Given the description of an element on the screen output the (x, y) to click on. 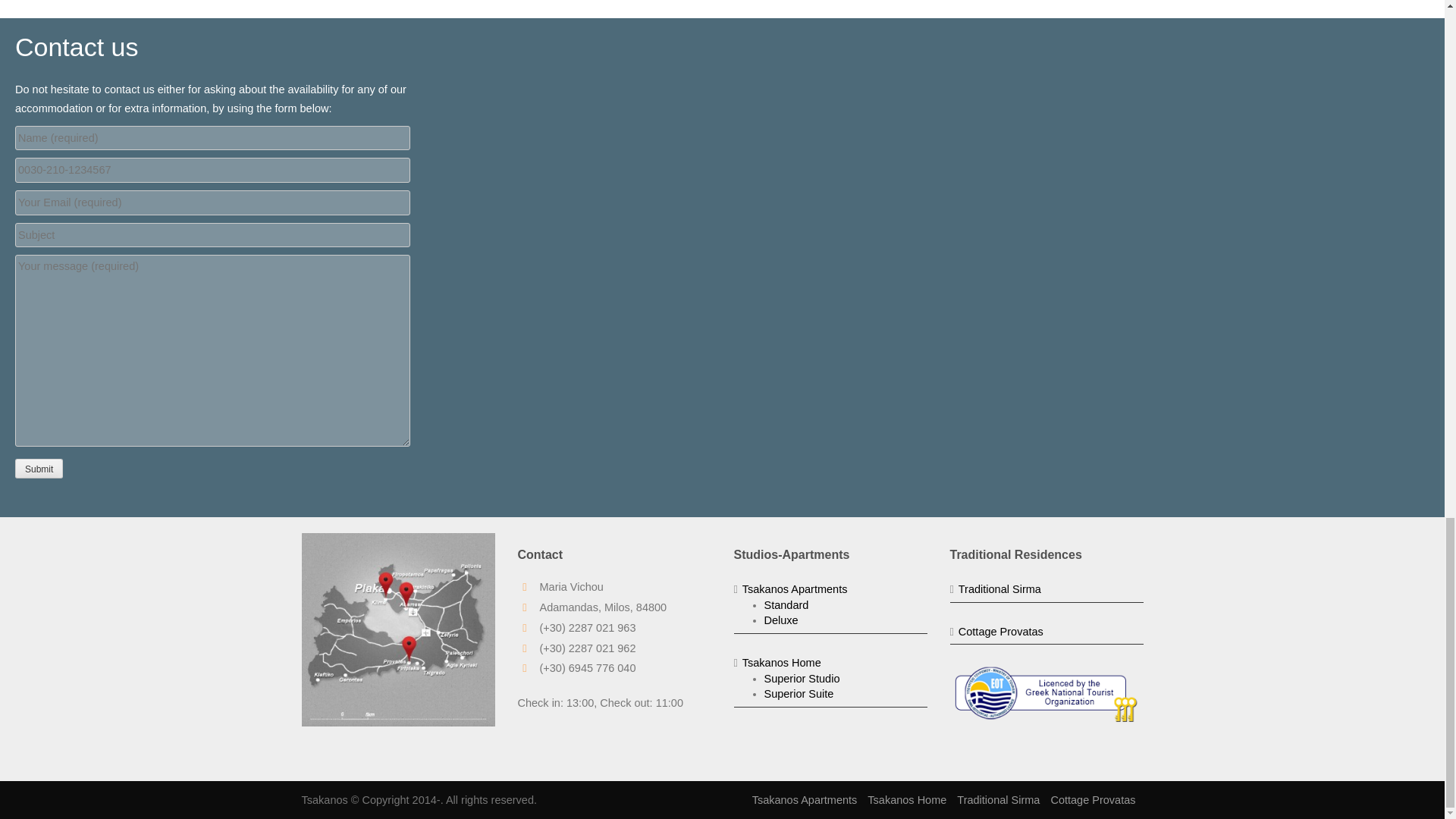
Submit (38, 468)
